Given the description of an element on the screen output the (x, y) to click on. 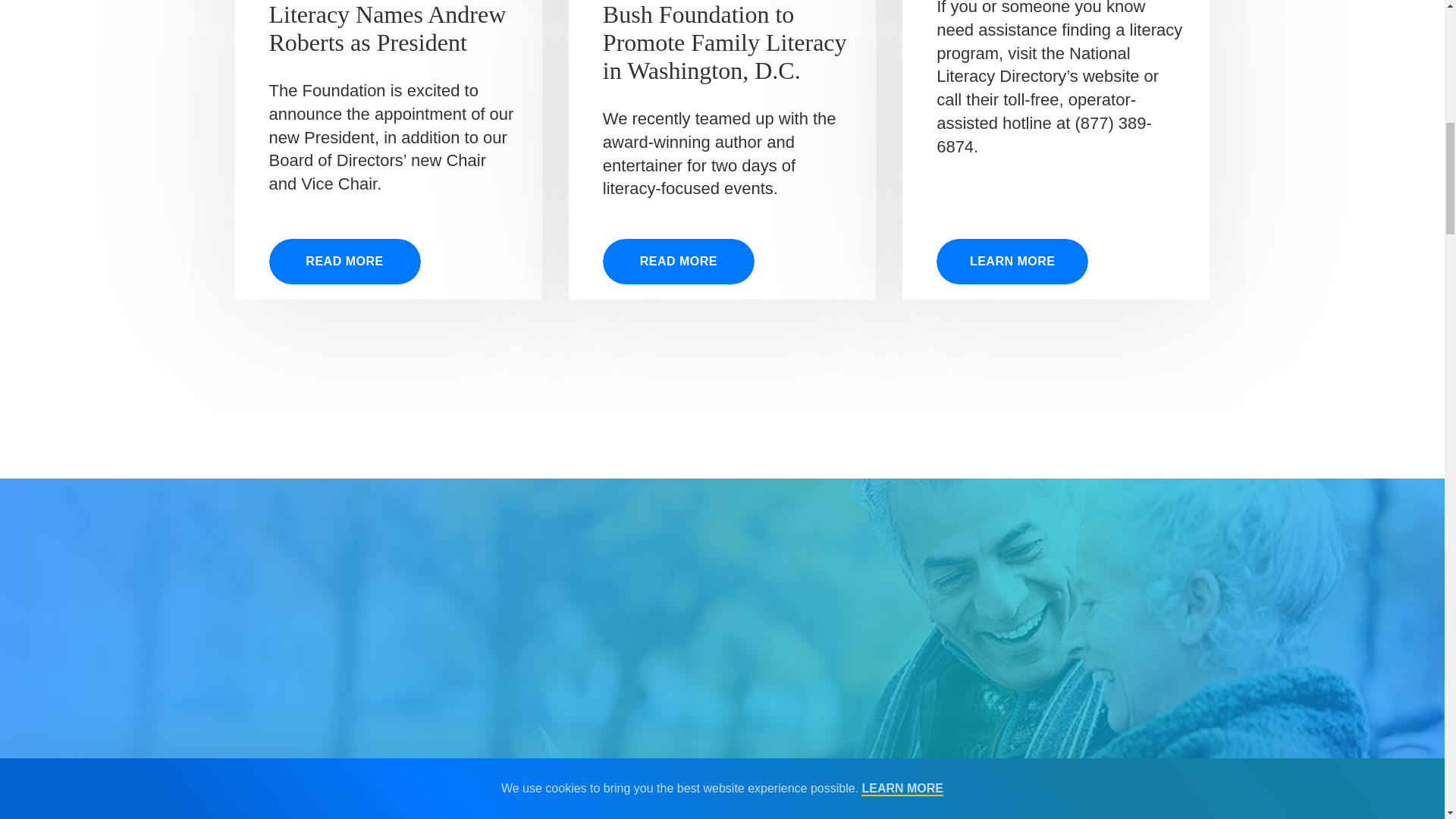
READ MORE (343, 261)
READ MORE (678, 261)
LEARN MORE (1011, 261)
